Given the description of an element on the screen output the (x, y) to click on. 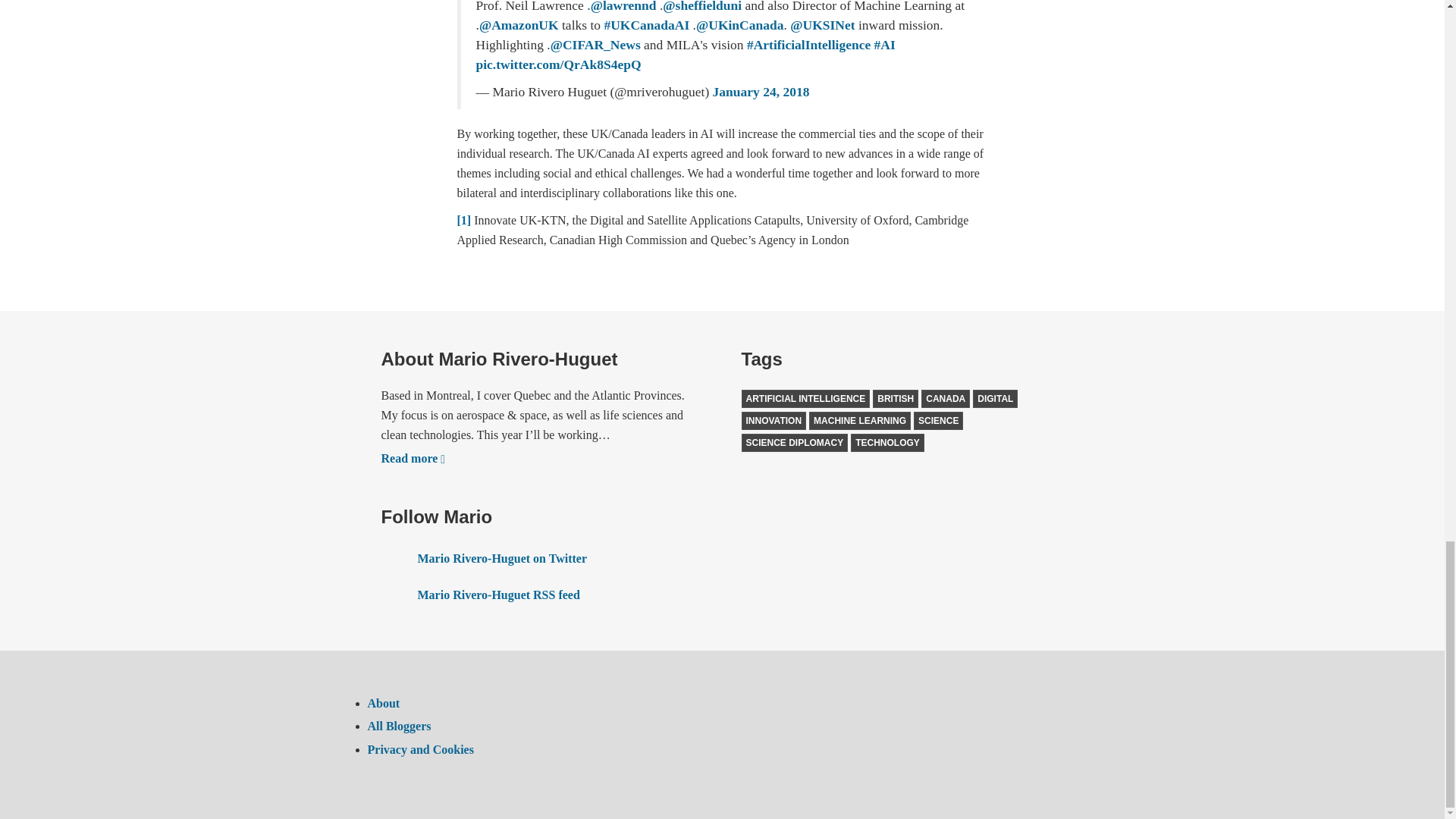
technology Tag (887, 443)
digital Tag (994, 398)
british Tag (895, 398)
canada Tag (945, 398)
science Tag (938, 420)
machine learning Tag (860, 420)
innovation Tag (773, 420)
artificial intelligence Tag (805, 398)
Science Diplomacy Tag (794, 443)
